Given the description of an element on the screen output the (x, y) to click on. 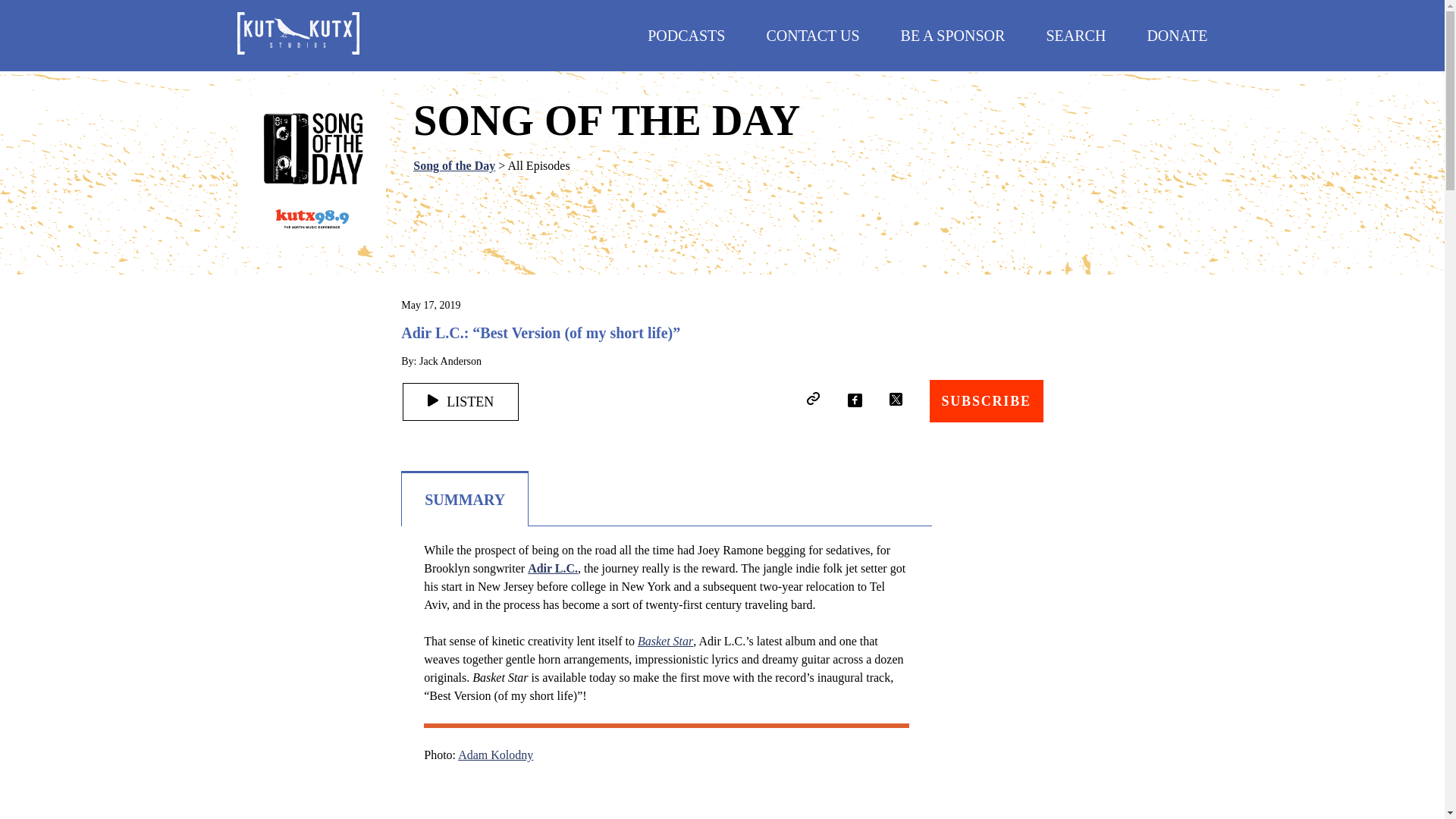
PODCASTS (686, 35)
SEARCH (1075, 35)
share on X (894, 399)
CONTACT US (812, 35)
Adam Kolodny (495, 754)
BE A SPONSOR (953, 35)
LISTEN (460, 401)
DONATE (1177, 35)
Song of the Day (454, 164)
SUBSCRIBE (986, 401)
Basket Star (665, 640)
Adir L.C. (552, 567)
